Given the description of an element on the screen output the (x, y) to click on. 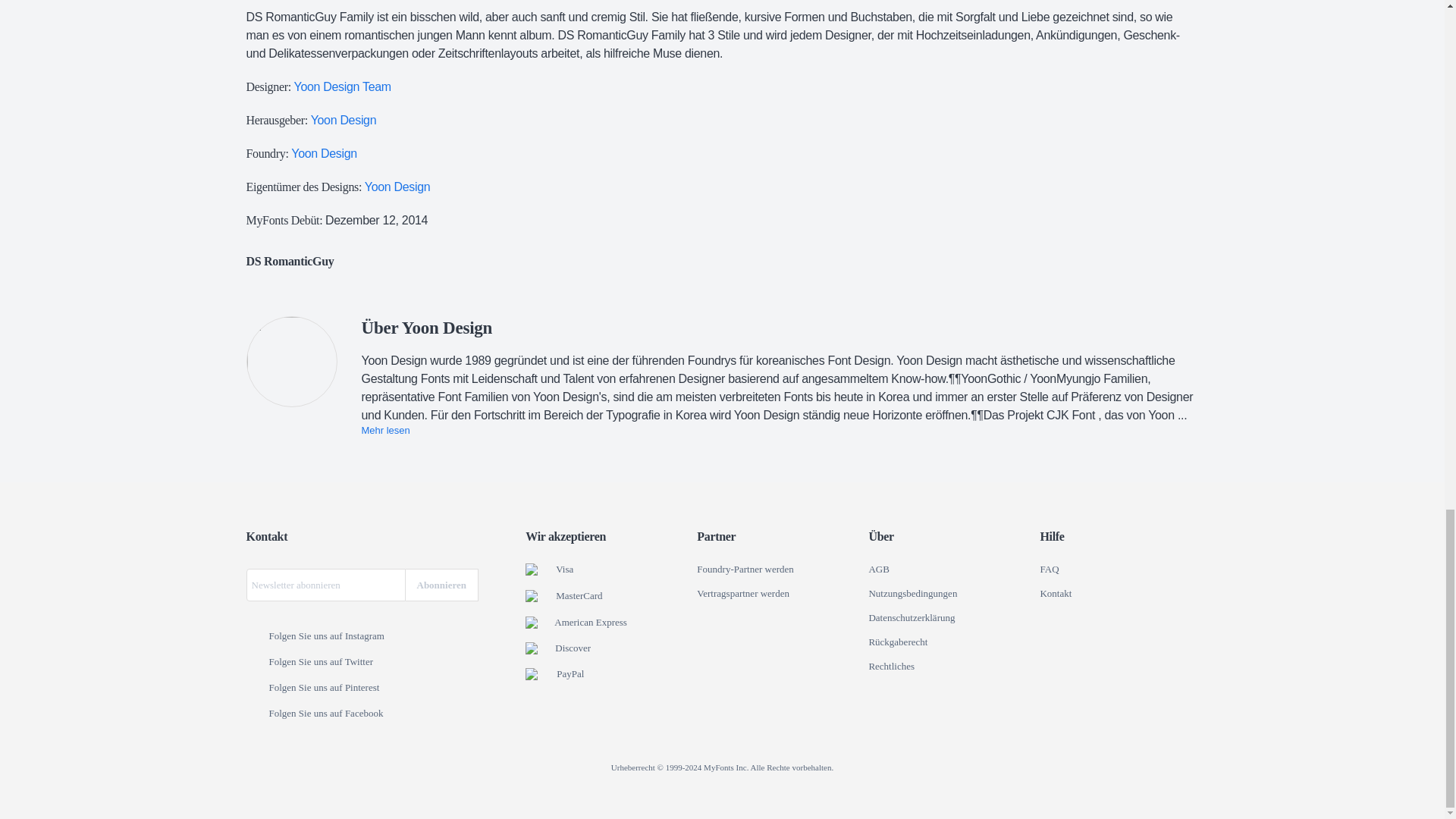
Foundry-Partner werden (745, 569)
Folgen Sie uns auf Twitter (256, 662)
Folgen Sie uns auf Pinterest (256, 688)
Folgen Sie uns auf Facebook (256, 714)
Folgen Sie uns auf Instagram (256, 636)
